Given the description of an element on the screen output the (x, y) to click on. 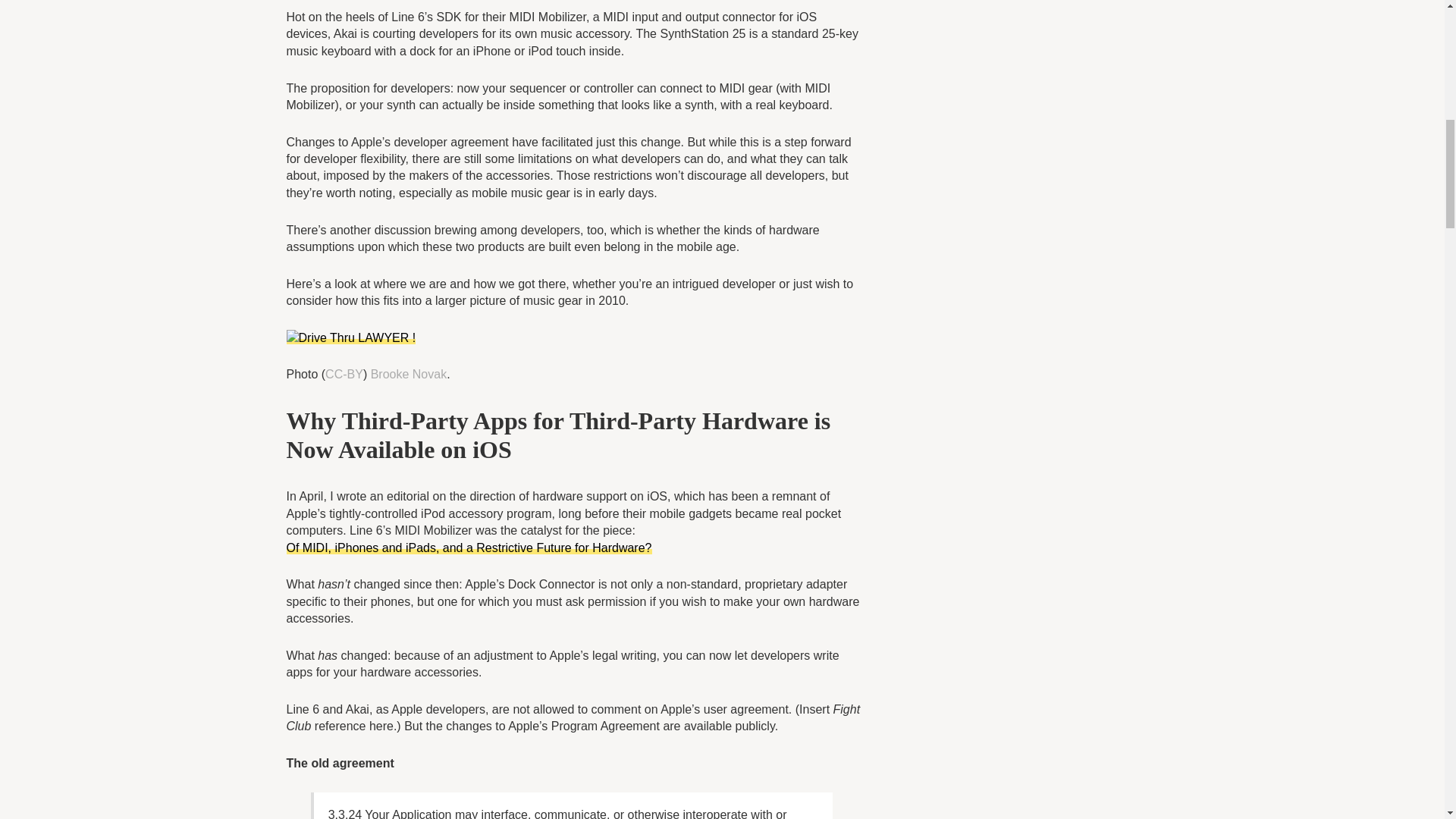
Brooke Novak (408, 373)
Drive Thru LAWYER ! by brookenovak, on Flickr (351, 337)
CC-BY (343, 373)
